Given the description of an element on the screen output the (x, y) to click on. 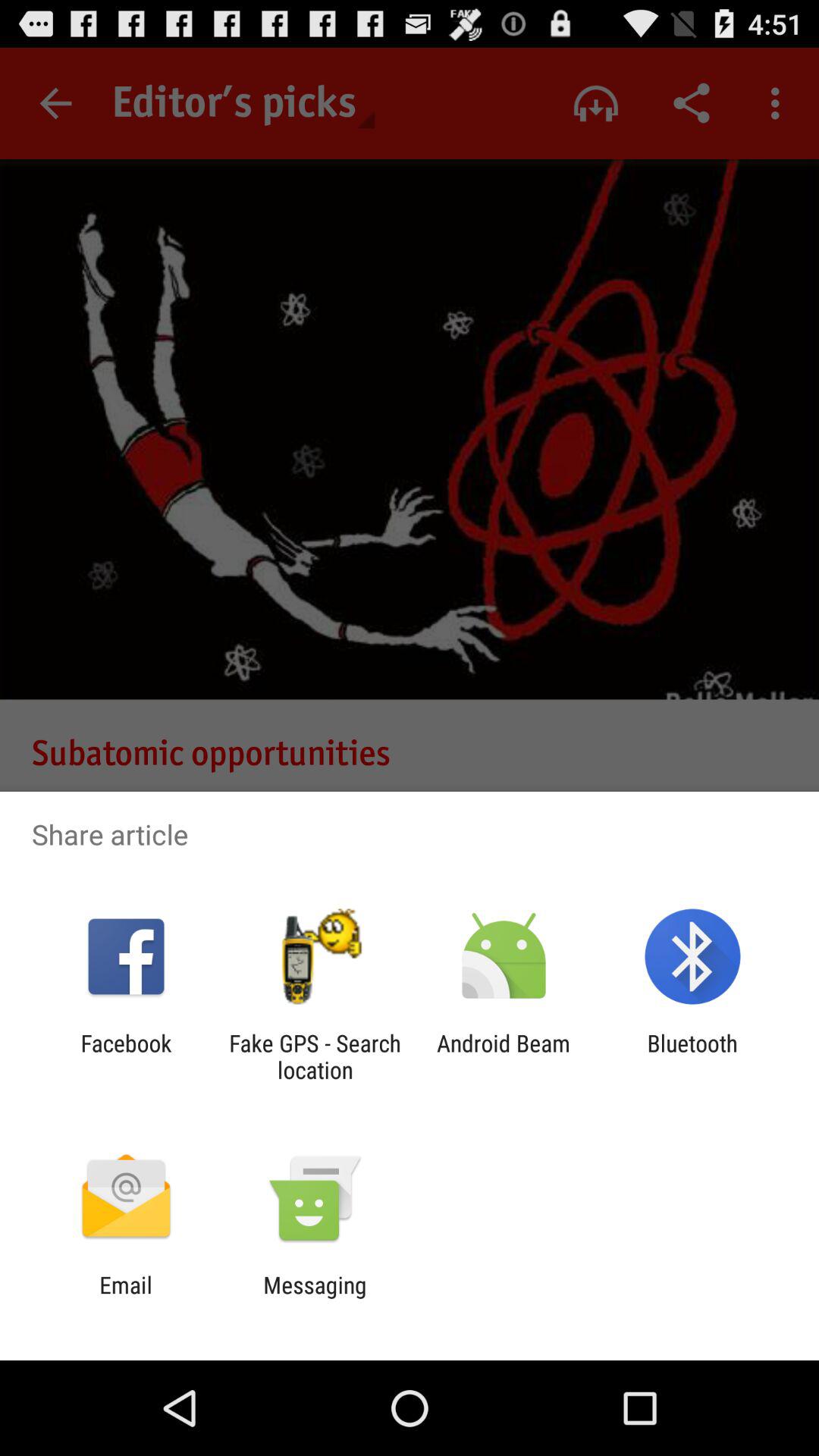
open icon to the left of the bluetooth icon (503, 1056)
